Given the description of an element on the screen output the (x, y) to click on. 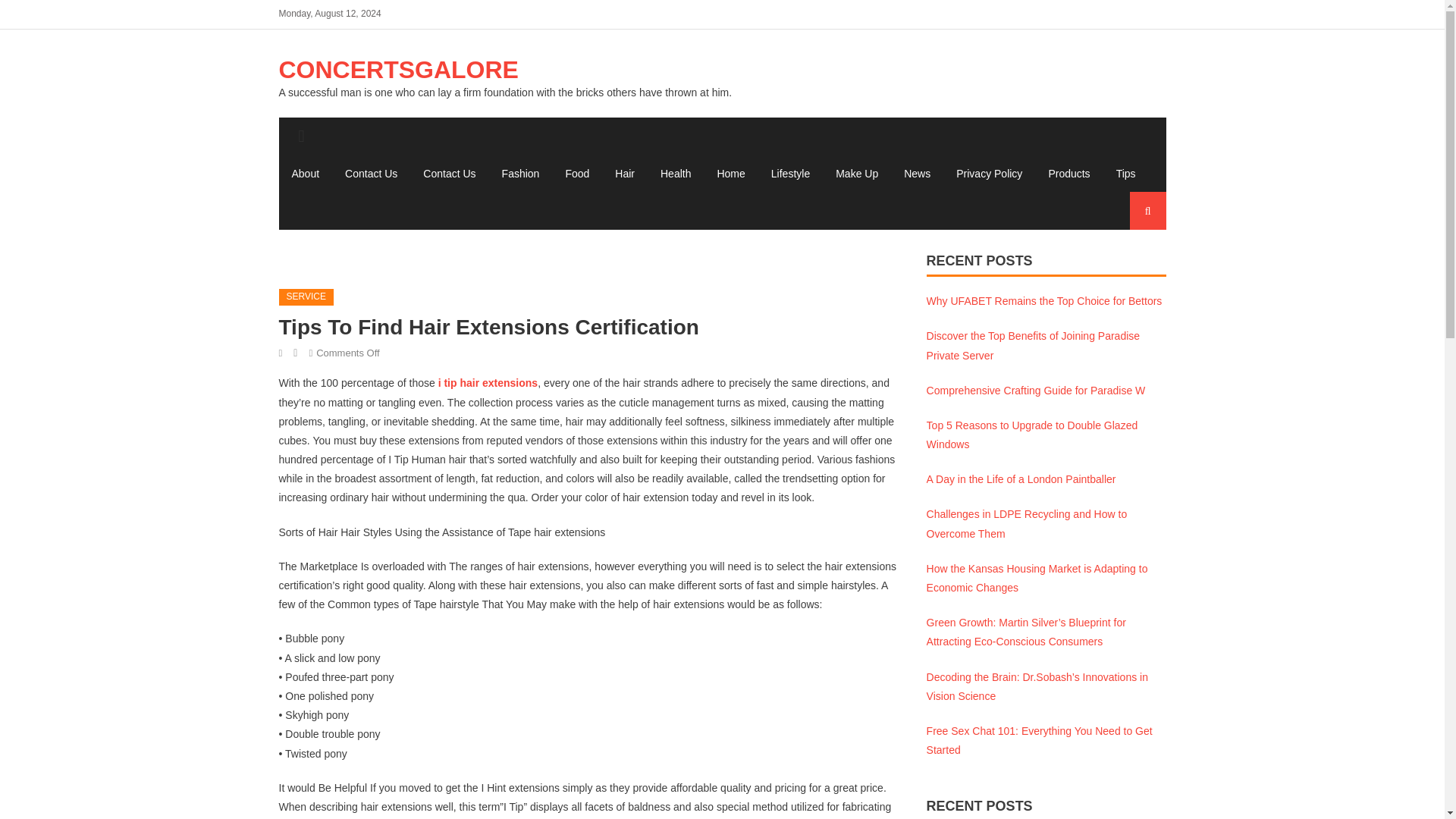
Food (576, 173)
Contact Us (371, 173)
Make Up (856, 173)
Home (729, 173)
Products (1068, 173)
Privacy Policy (988, 173)
CONCERTSGALORE (398, 69)
Health (675, 173)
Hair (625, 173)
